Given the description of an element on the screen output the (x, y) to click on. 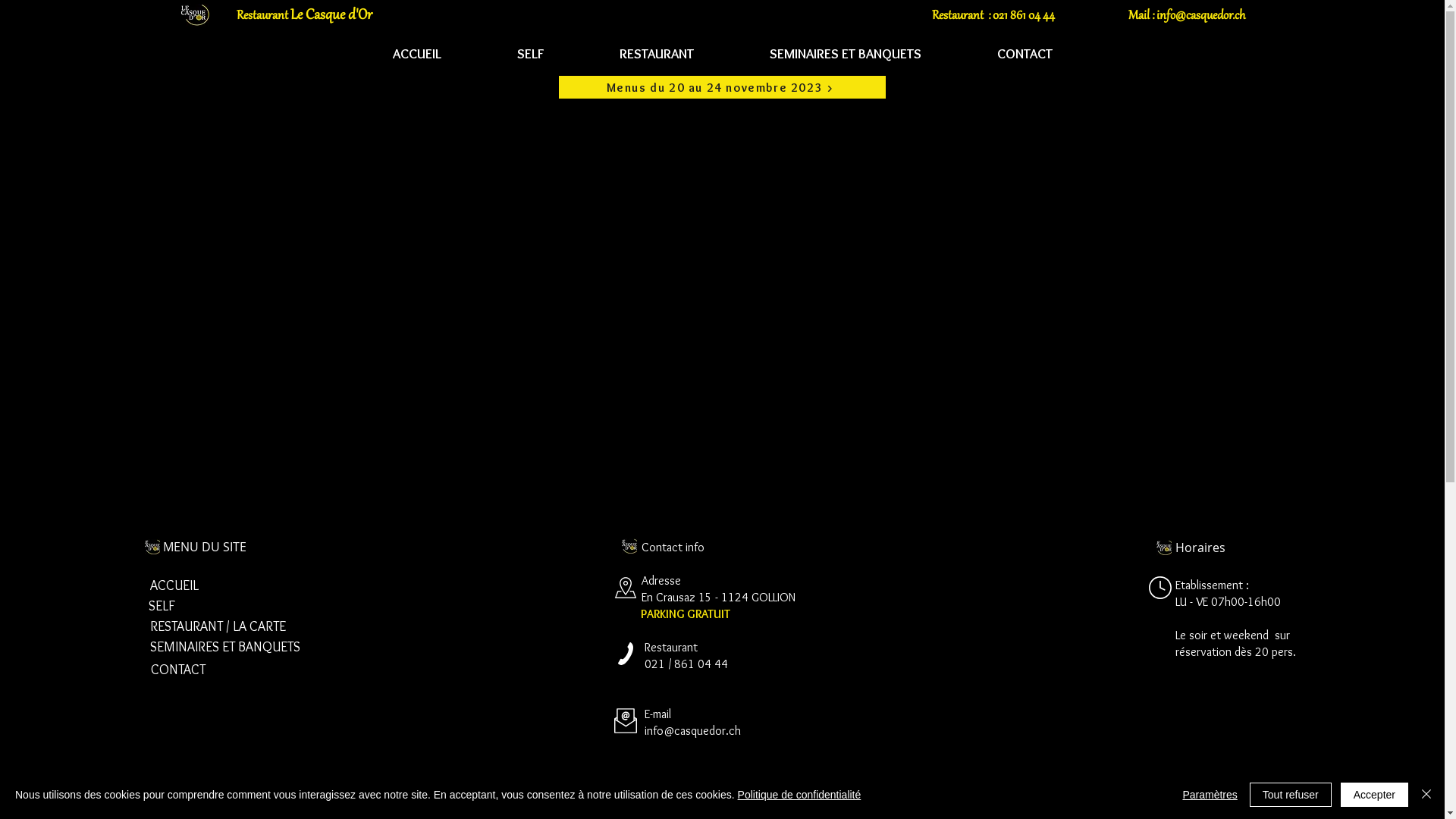
CONTACT Element type: text (1023, 52)
Accepter Element type: text (1374, 794)
Restaurant  Element type: text (263, 15)
SEMINAIRES ET BANQUETS Element type: text (844, 52)
Le Casque d'Or Element type: text (331, 15)
SEMINAIRES ET BANQUETS Element type: text (225, 646)
ACCUEIL Element type: text (174, 585)
RESTAURANT Element type: text (655, 52)
Mail : info@casquedor.ch Element type: text (1186, 15)
021 / 861 04 44 Element type: text (686, 663)
RESTAURANT / LA CARTE Element type: text (217, 626)
CONTACT Element type: text (178, 669)
Menus du 20 au 24 novembre 2023 > Element type: text (721, 86)
Restaurant  : 021 861 04 44 Element type: text (992, 15)
info@casquedor.ch Element type: text (692, 730)
SELF Element type: text (530, 52)
ACCUEIL Element type: text (416, 52)
Tout refuser Element type: text (1290, 794)
SELF Element type: text (161, 605)
